Given the description of an element on the screen output the (x, y) to click on. 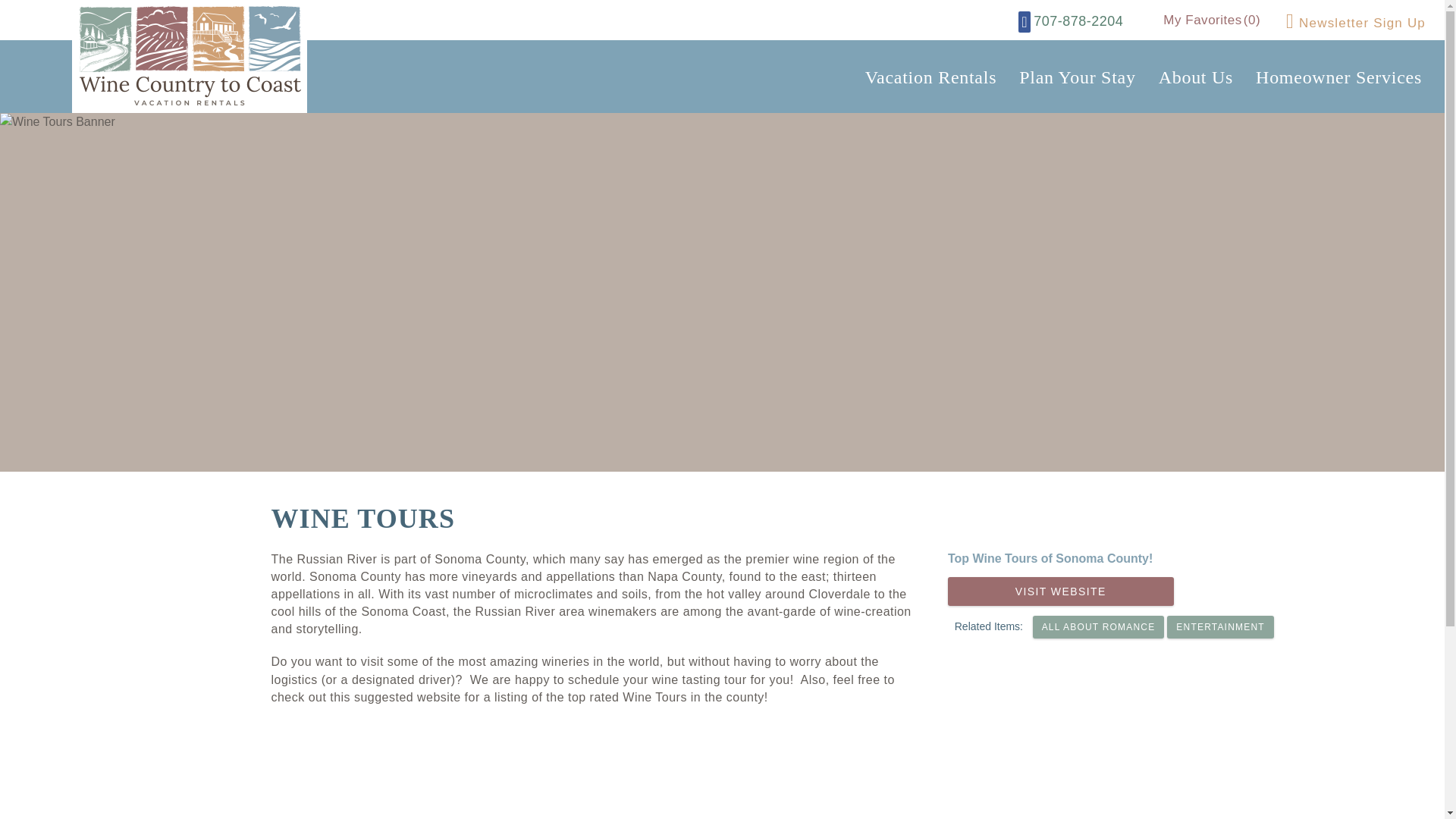
Newsletter Sign Up (1355, 25)
Vacation Rentals (930, 79)
About Us (1195, 79)
707-878-2204 (1077, 21)
Home (189, 55)
Plan Your Stay (1077, 79)
